Given the description of an element on the screen output the (x, y) to click on. 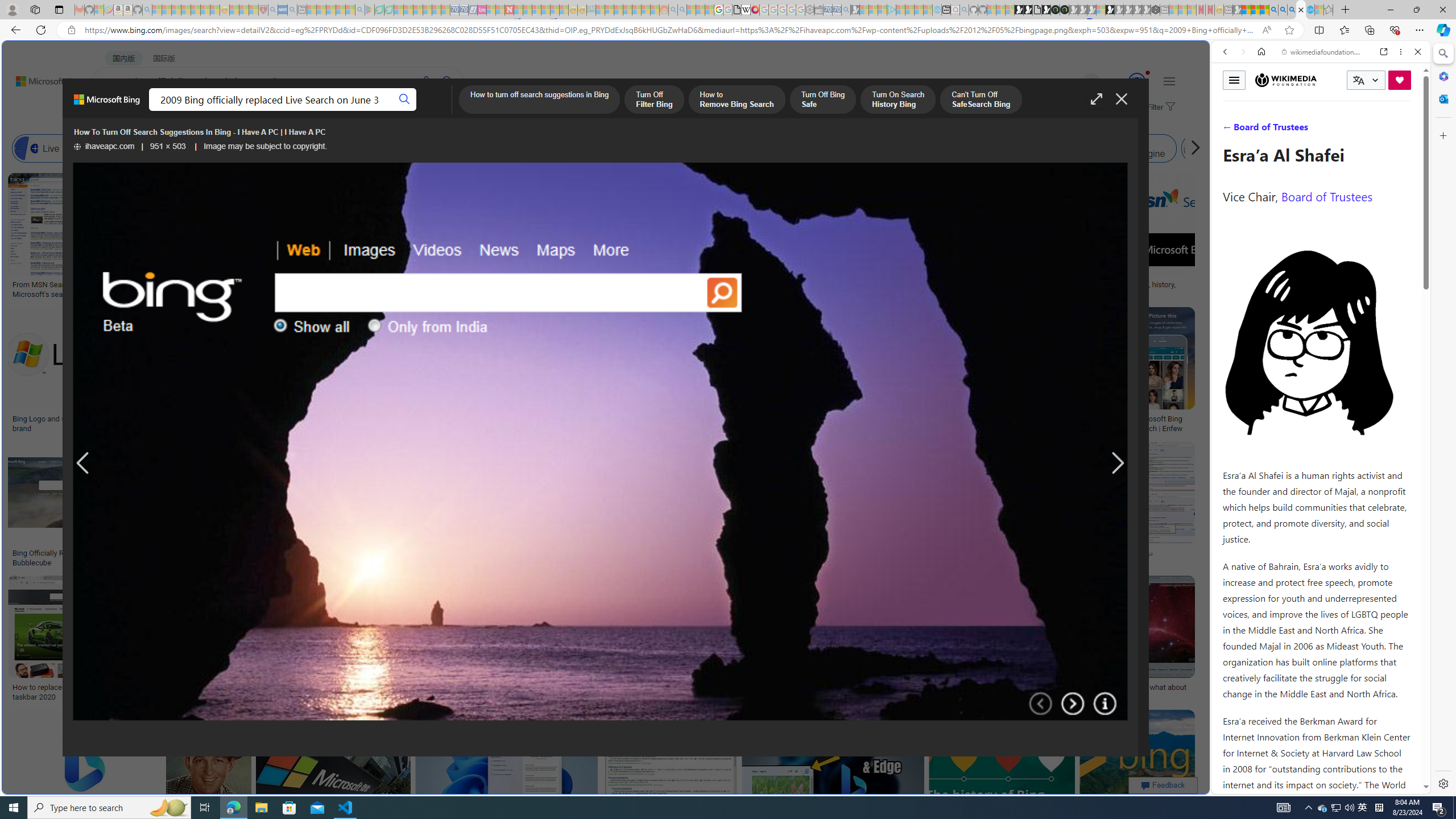
IMAGES (205, 111)
Recipes - MSN - Sleeping (234, 9)
Bing Best Search Engine (684, 148)
Search Filter, VIDEOS (1300, 129)
